Given the description of an element on the screen output the (x, y) to click on. 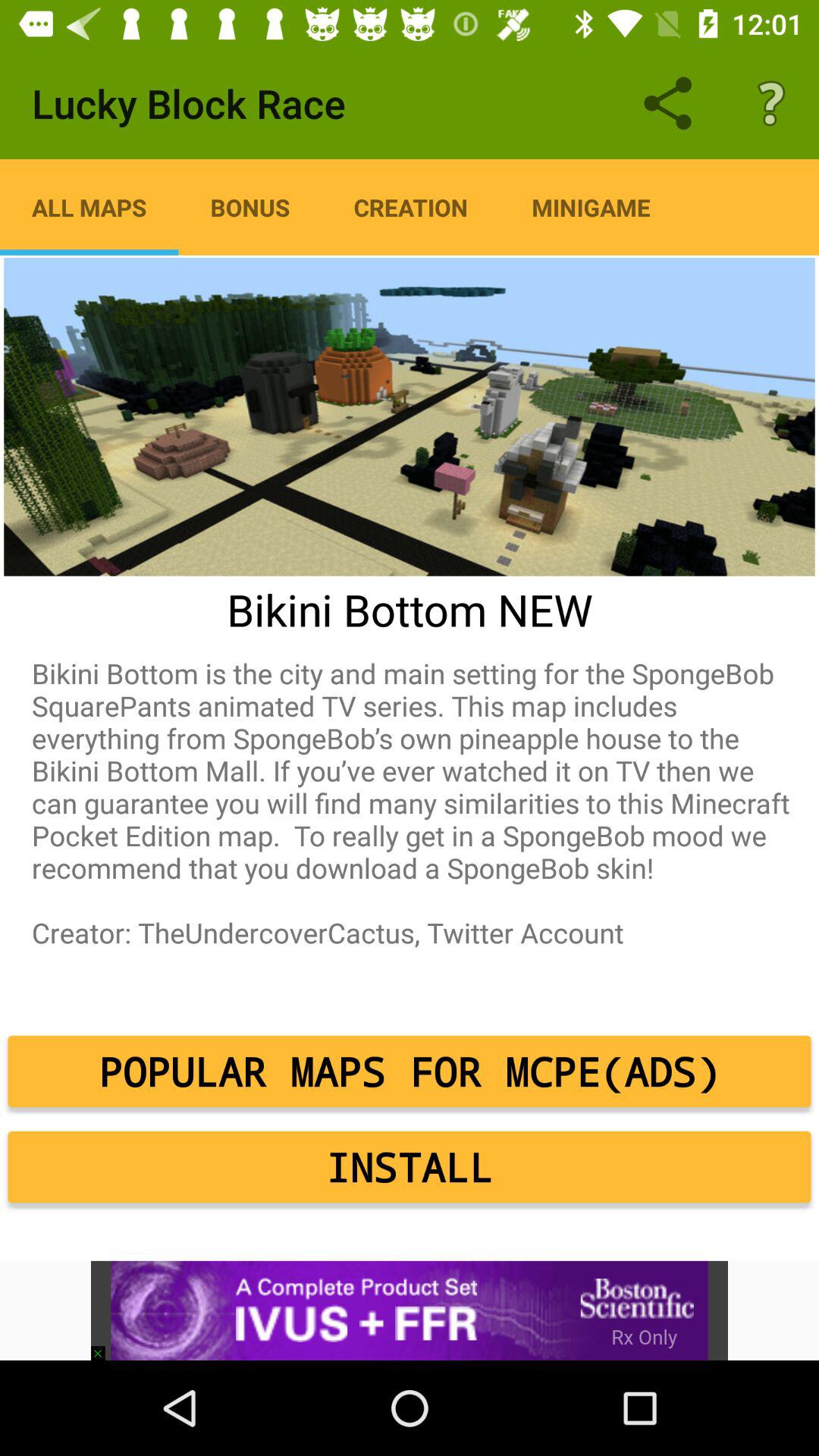
open advertisement (409, 1310)
